Given the description of an element on the screen output the (x, y) to click on. 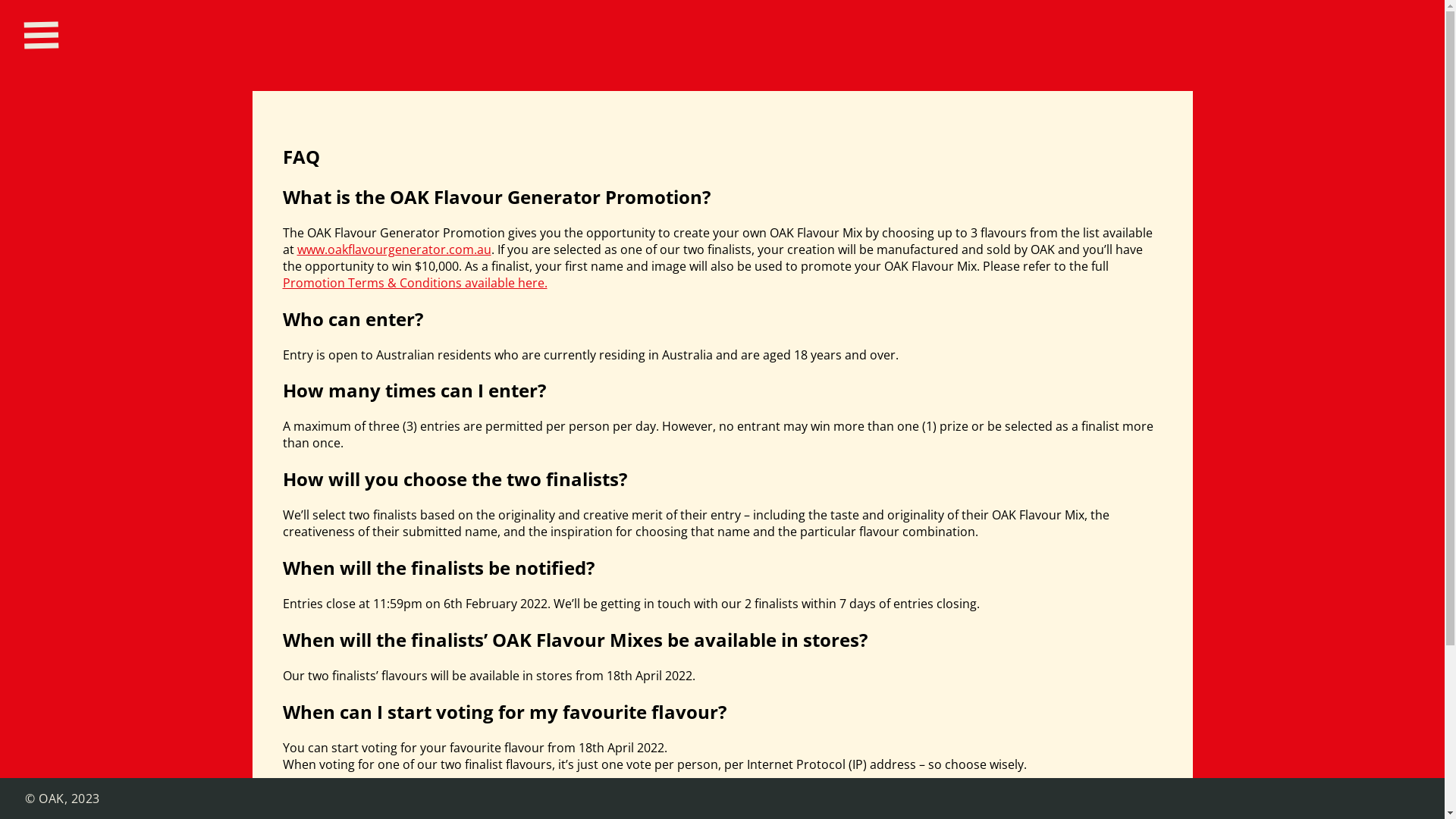
www.oakflavourgenerator.com.au Element type: text (394, 249)
Promotion Terms & Conditions available here. Element type: text (414, 282)
